Given the description of an element on the screen output the (x, y) to click on. 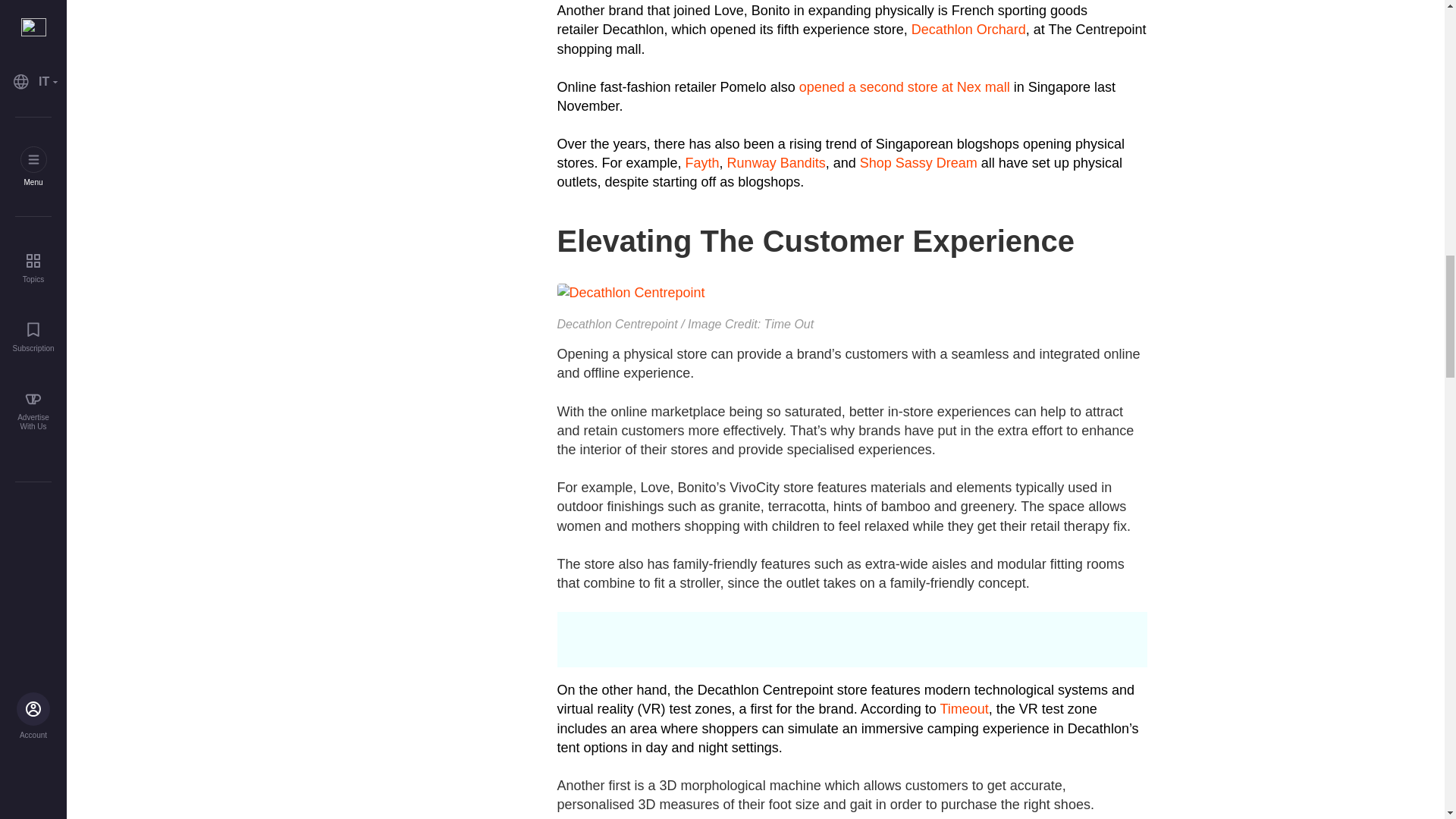
opened a second store at Nex mall (906, 87)
Timeout (963, 708)
Fayth (702, 162)
Decathlon Orchard (968, 29)
Runway Bandits (775, 162)
Shop Sassy Dream (918, 162)
